Given the description of an element on the screen output the (x, y) to click on. 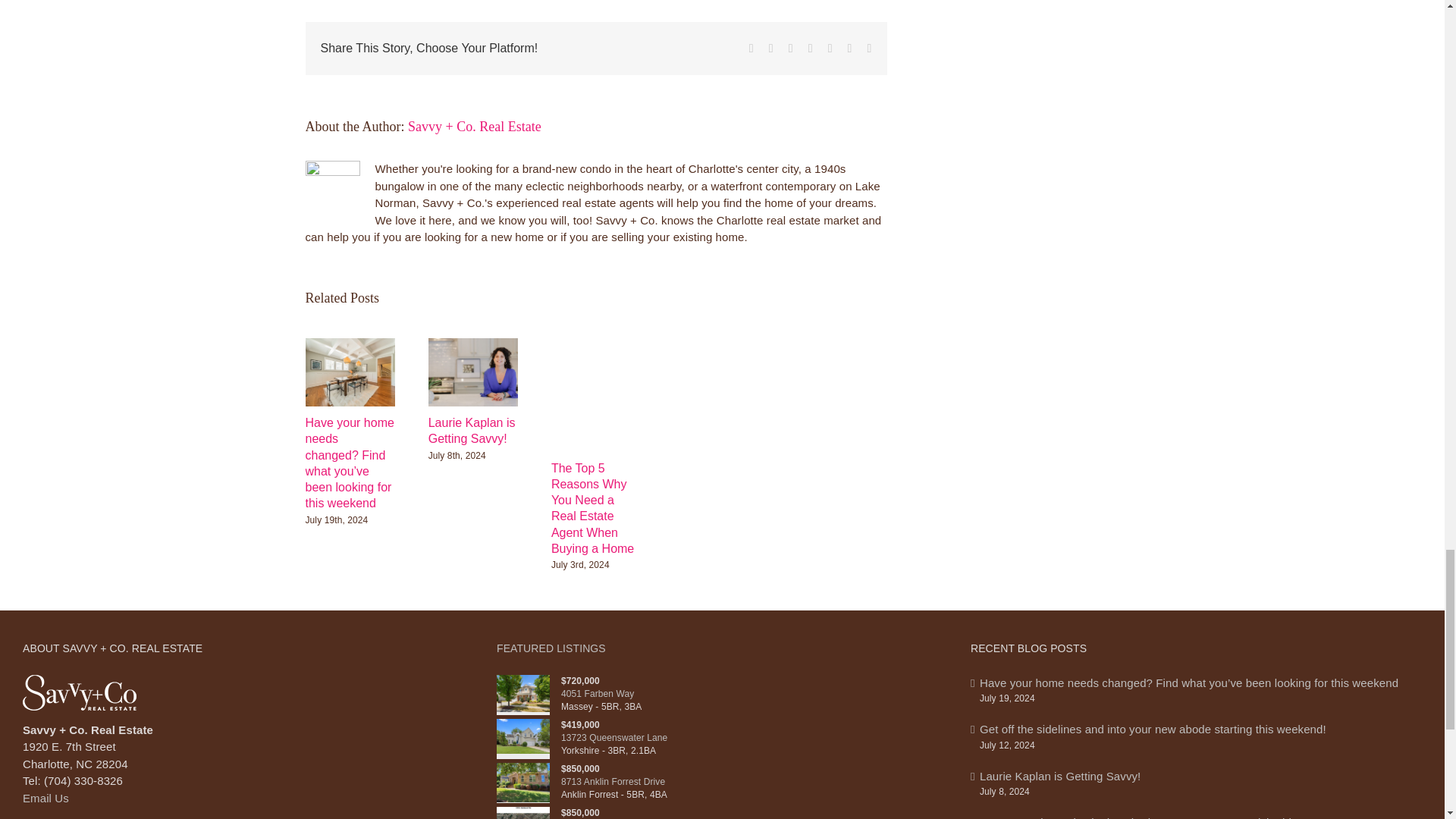
Laurie Kaplan is Getting Savvy! (471, 430)
